Given the description of an element on the screen output the (x, y) to click on. 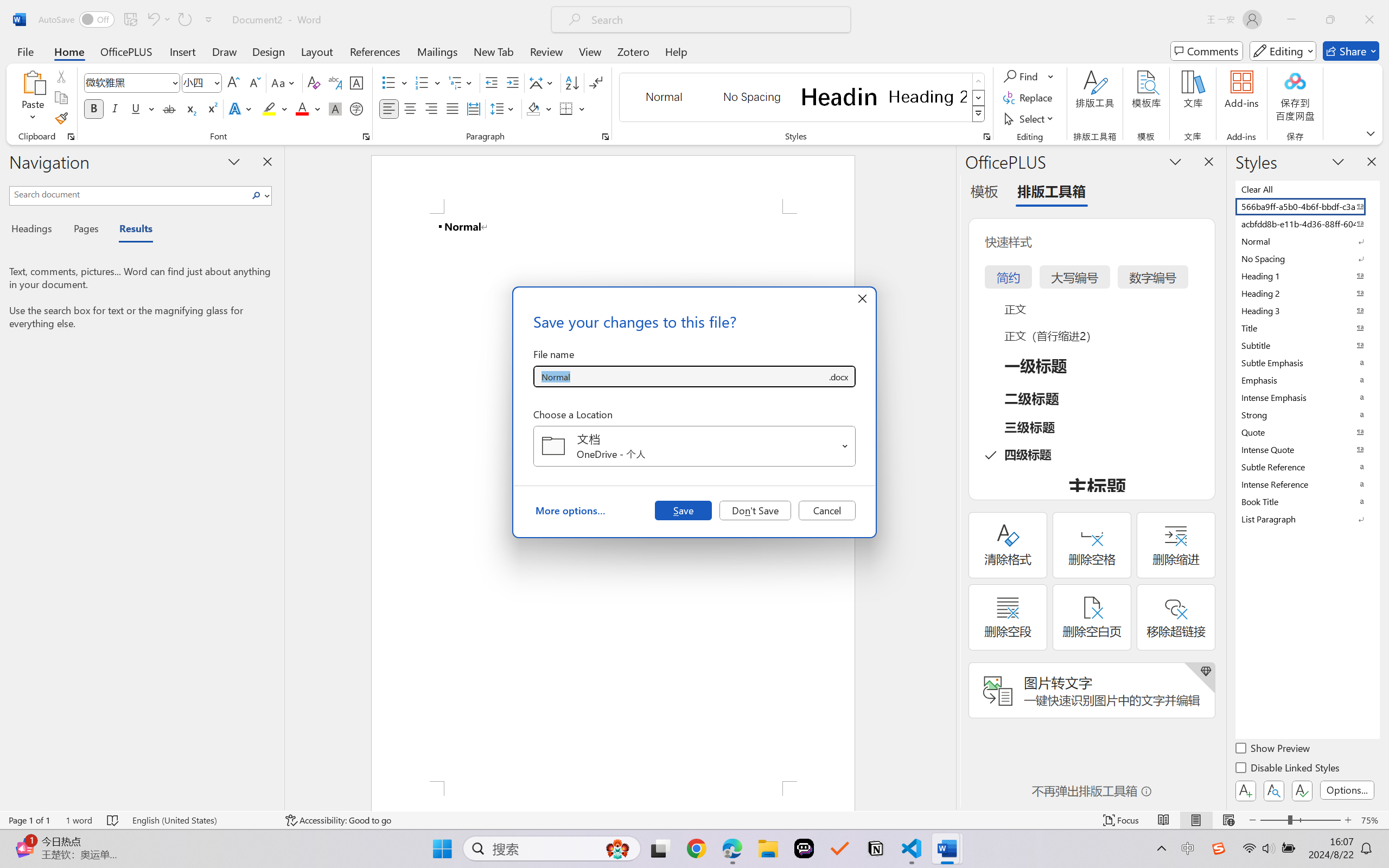
Enclose Characters... (356, 108)
AutomationID: BadgeAnchorLargeTicker (24, 836)
Repeat Text Fill Effect (184, 19)
Paste (33, 97)
Search document (128, 193)
List Paragraph (1306, 518)
Replace... (1029, 97)
Restore Down (1330, 19)
Book Title (1306, 501)
Font... (365, 136)
Design (268, 51)
